Given the description of an element on the screen output the (x, y) to click on. 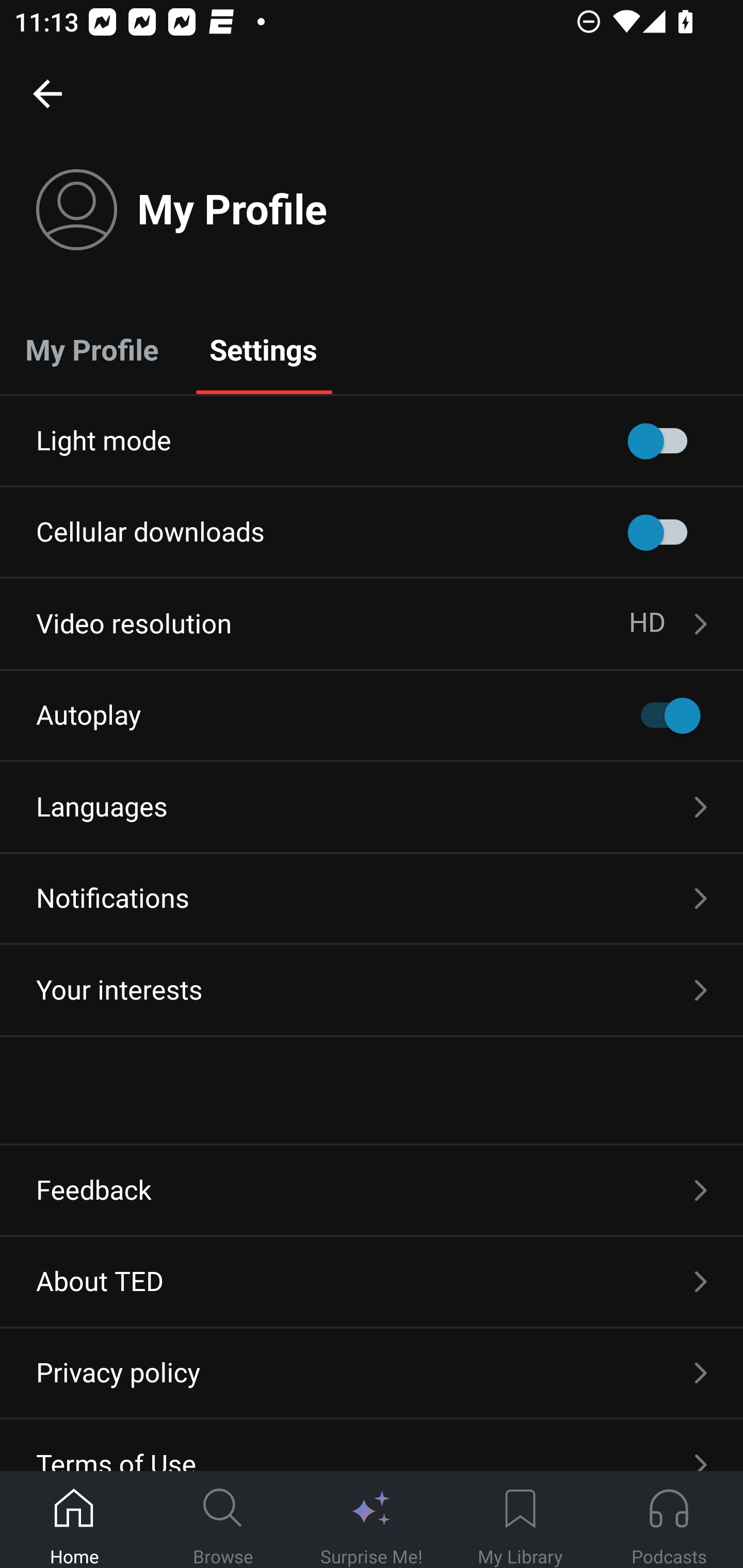
Home, back (47, 92)
My Profile (92, 348)
Settings (263, 348)
Video resolution HD (371, 623)
Languages (371, 806)
Notifications (371, 897)
Your interests (371, 989)
Feedback (371, 1190)
About TED (371, 1281)
Privacy policy (371, 1372)
Terms of Use (371, 1445)
Home (74, 1520)
Browse (222, 1520)
Surprise Me! (371, 1520)
My Library (519, 1520)
Podcasts (668, 1520)
